Given the description of an element on the screen output the (x, y) to click on. 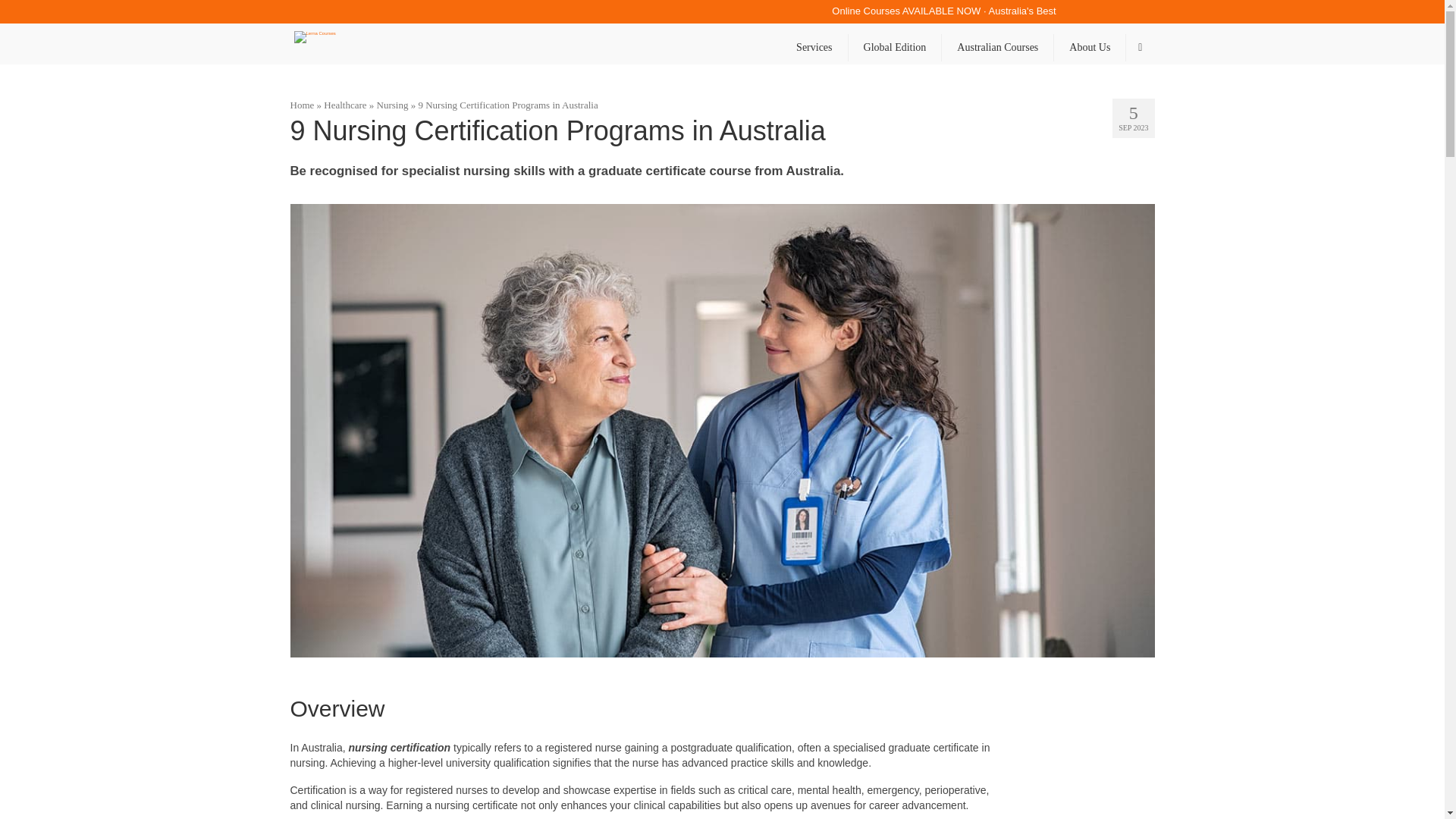
About Us (1089, 47)
Lerna Courses (428, 43)
Services (813, 47)
Australian Courses (997, 47)
Search (1139, 47)
Global Edition (895, 47)
